Given the description of an element on the screen output the (x, y) to click on. 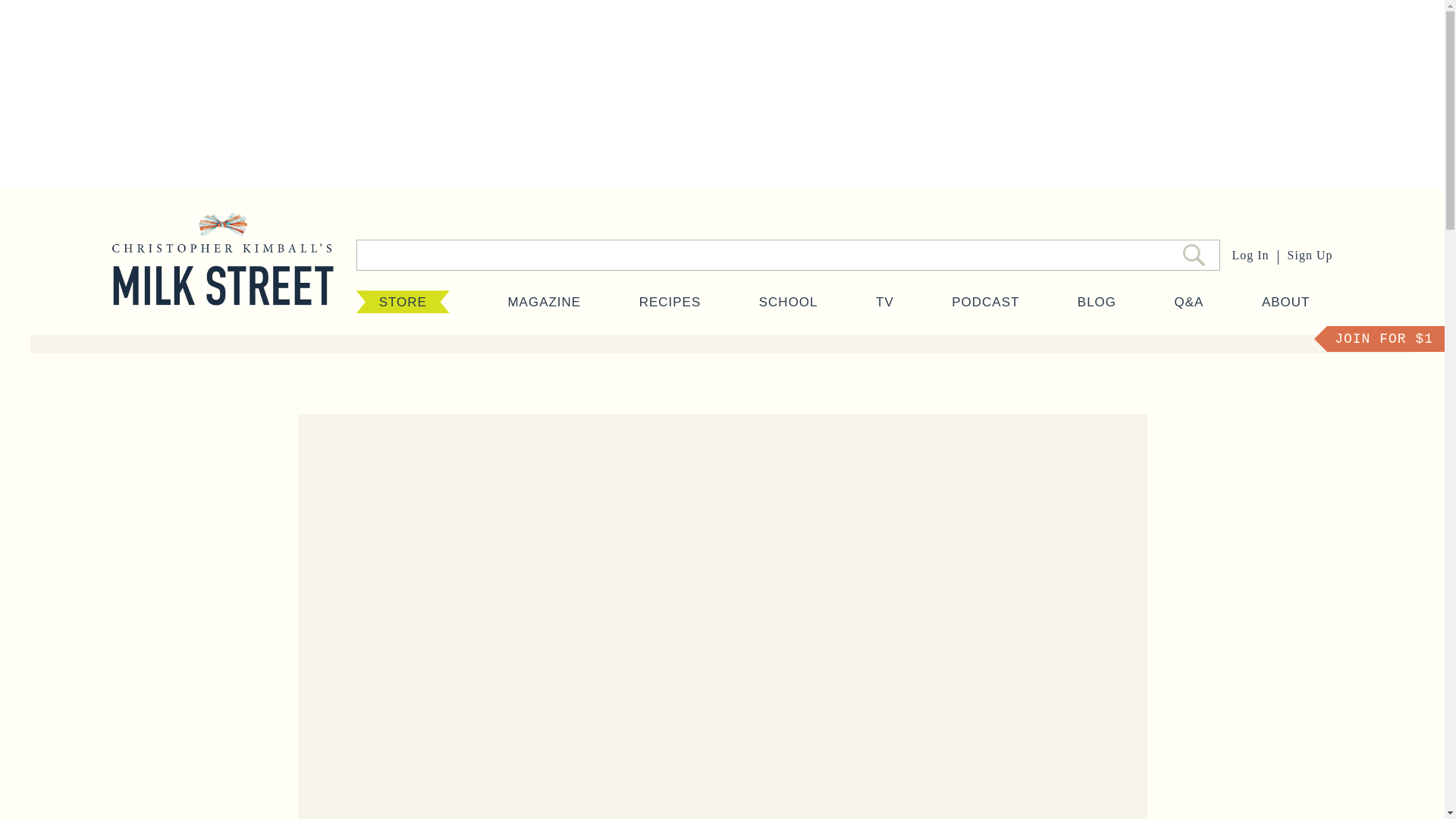
Log In (1249, 255)
Christopher Kimball's Milk Street (222, 274)
Search (1193, 255)
MAGAZINE (543, 301)
Sign Up (1310, 255)
STORE (402, 301)
